Given the description of an element on the screen output the (x, y) to click on. 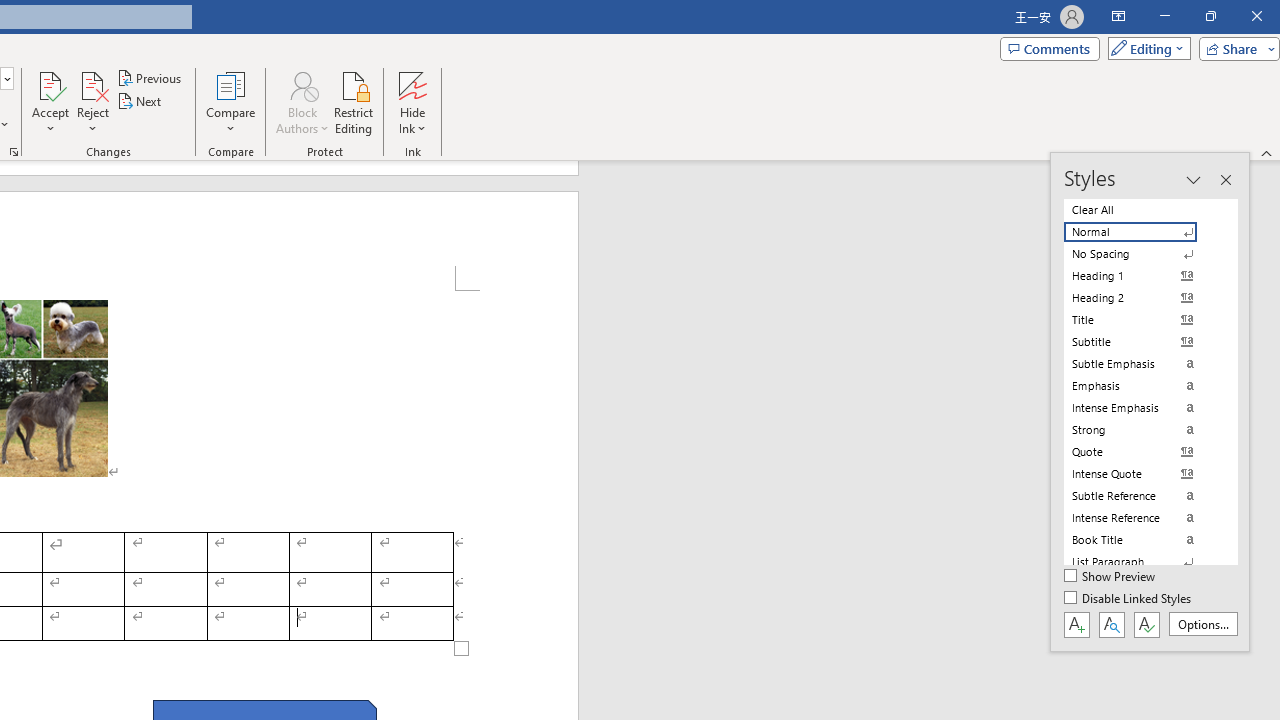
Show Preview (1110, 577)
Heading 2 (1142, 297)
Change Tracking Options... (13, 151)
Compare (230, 102)
Heading 1 (1142, 275)
Emphasis (1142, 385)
Accept and Move to Next (50, 84)
Block Authors (302, 84)
Reject and Move to Next (92, 84)
